Given the description of an element on the screen output the (x, y) to click on. 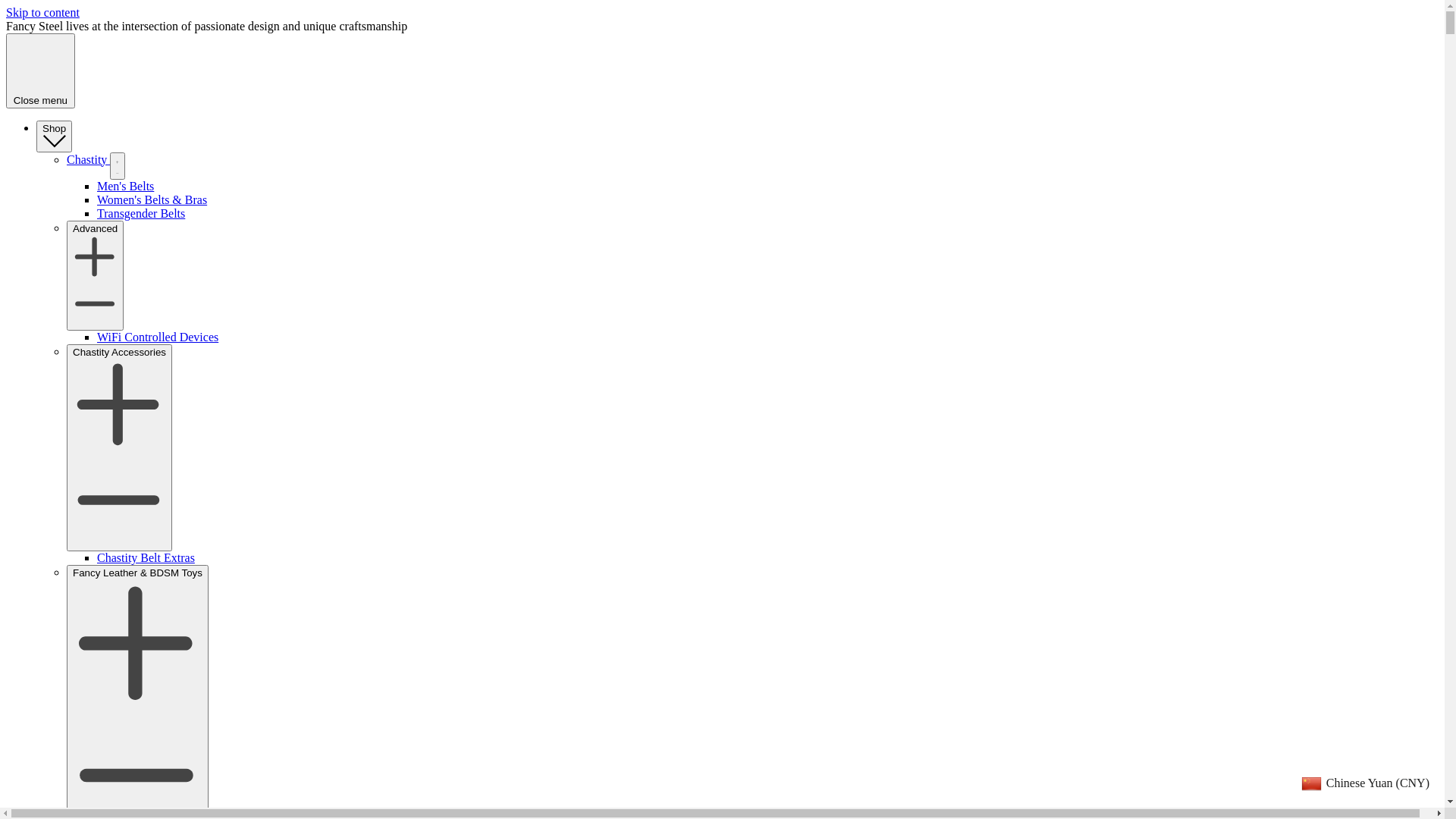
Shop Element type: text (54, 136)
Skip to content Element type: text (42, 12)
Women's Belts & Bras Element type: text (152, 199)
Chastity Accessories Element type: text (119, 447)
Transgender Belts Element type: text (141, 213)
Chastity Element type: text (87, 159)
Men's Belts Element type: text (125, 185)
icon-X Close menu Element type: text (40, 70)
WiFi Controlled Devices Element type: text (157, 336)
Advanced Element type: text (94, 275)
Chastity Belt Extras Element type: text (145, 557)
